Given the description of an element on the screen output the (x, y) to click on. 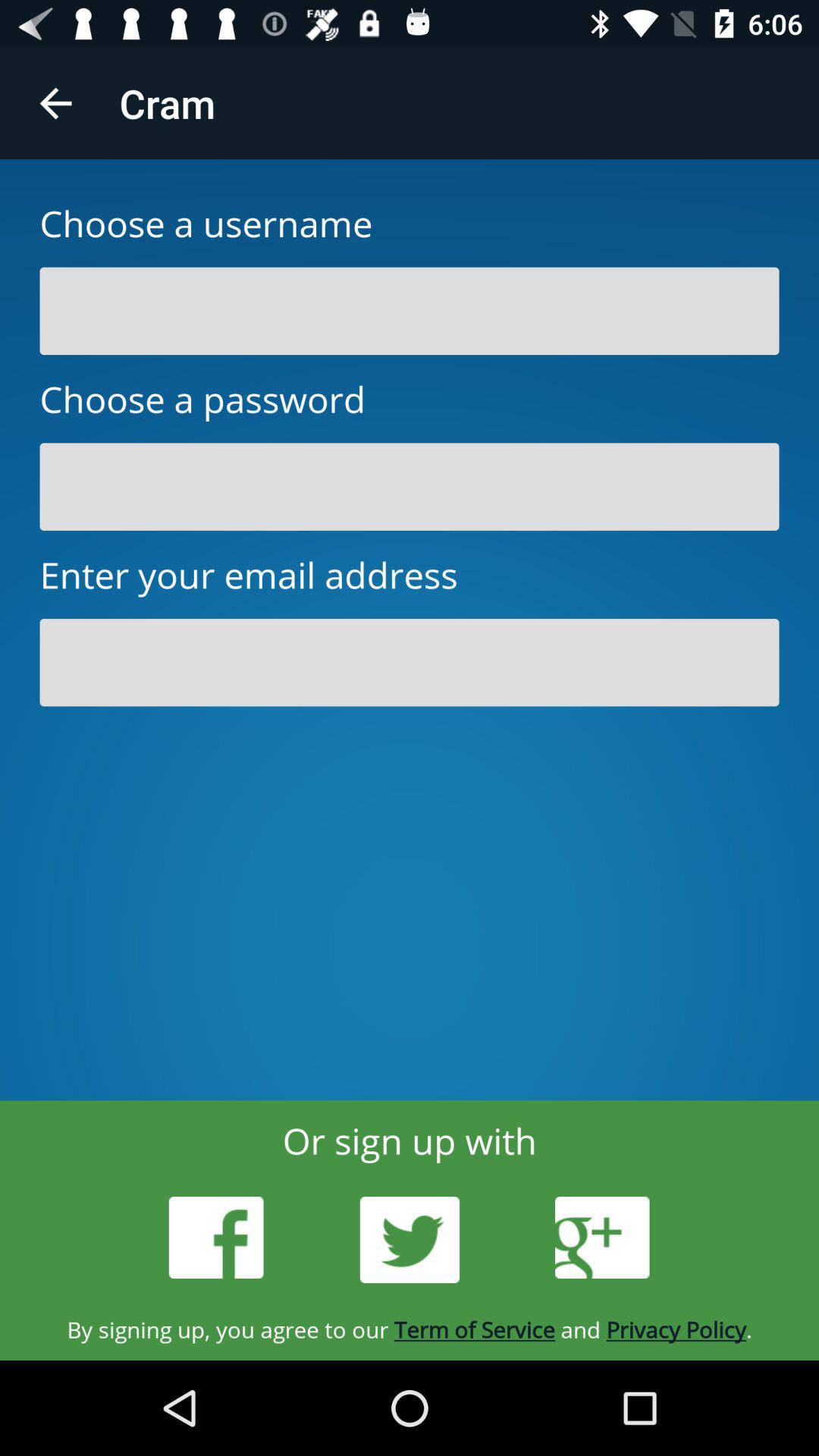
googleplus (602, 1237)
